Given the description of an element on the screen output the (x, y) to click on. 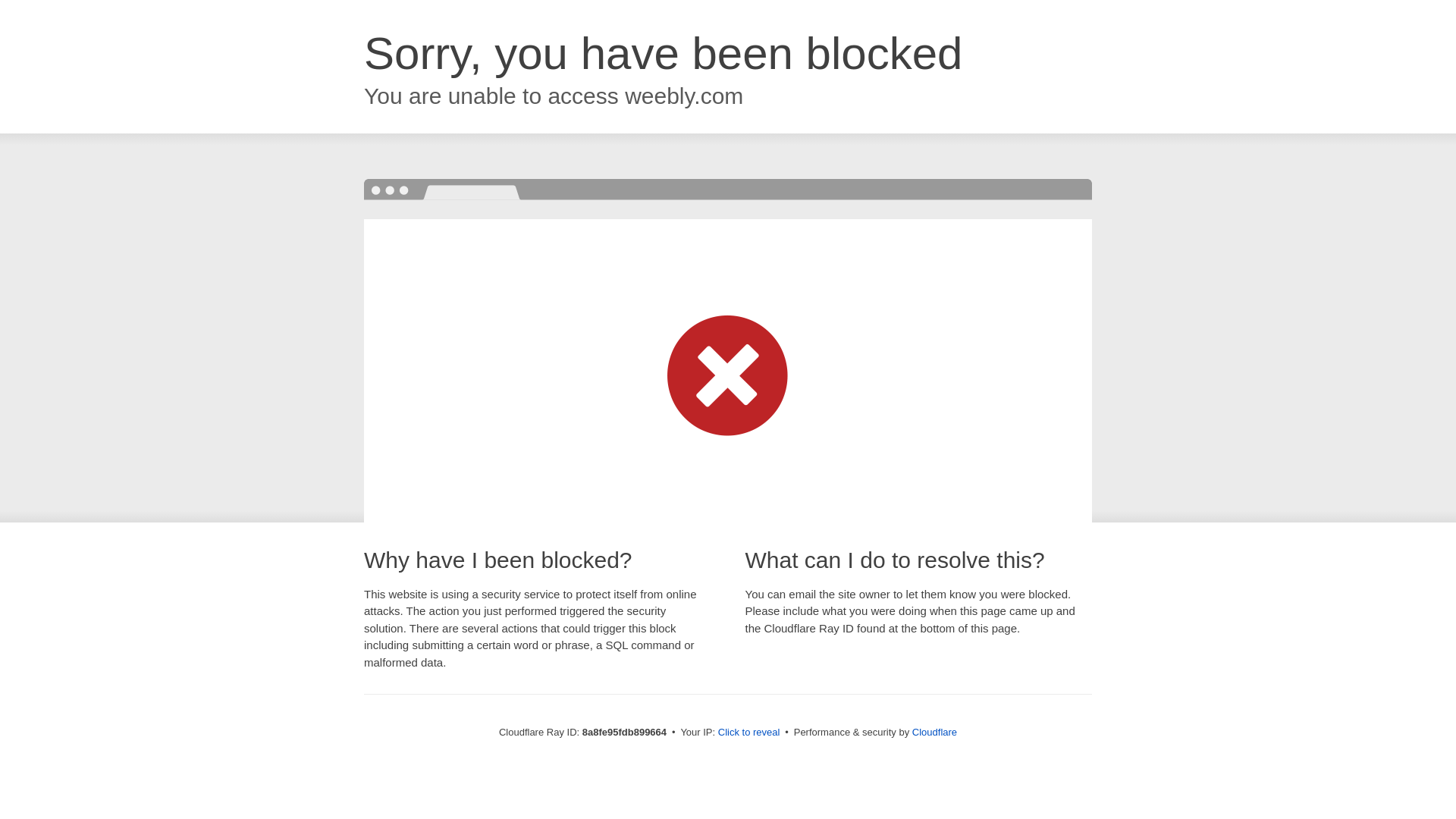
Cloudflare (934, 731)
Click to reveal (748, 732)
